Given the description of an element on the screen output the (x, y) to click on. 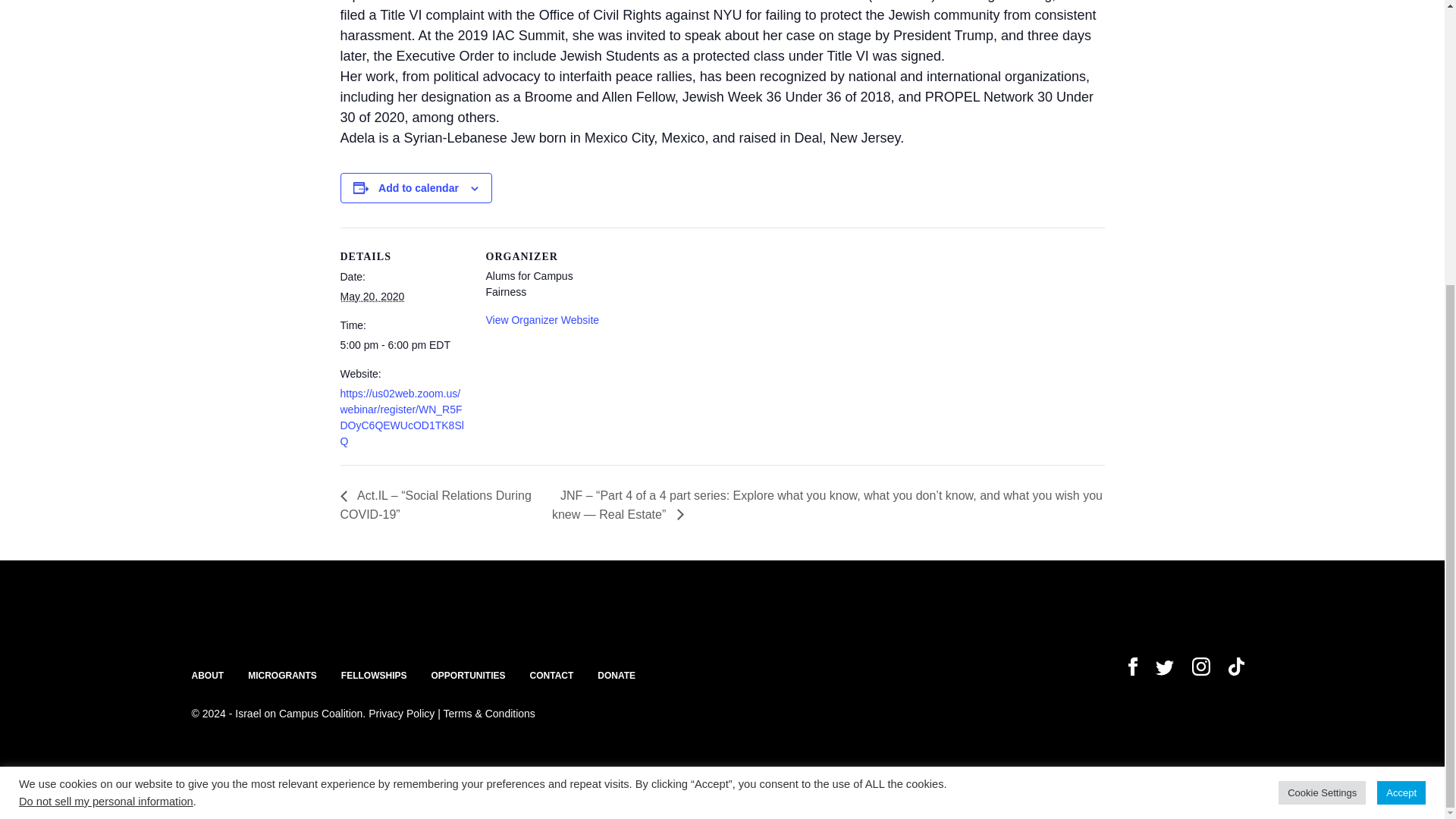
CONTACT (551, 675)
MICROGRANTS (282, 675)
Add to calendar (418, 187)
Accept (1401, 363)
DONATE (615, 675)
Do not sell my personal information (105, 372)
OPPORTUNITIES (467, 675)
2020-05-20 (403, 344)
FELLOWSHIPS (373, 675)
ABOUT (207, 675)
2020-05-20 (371, 296)
Privacy Policy (400, 713)
Cookie Settings (1321, 363)
View Organizer Website (541, 319)
